Given the description of an element on the screen output the (x, y) to click on. 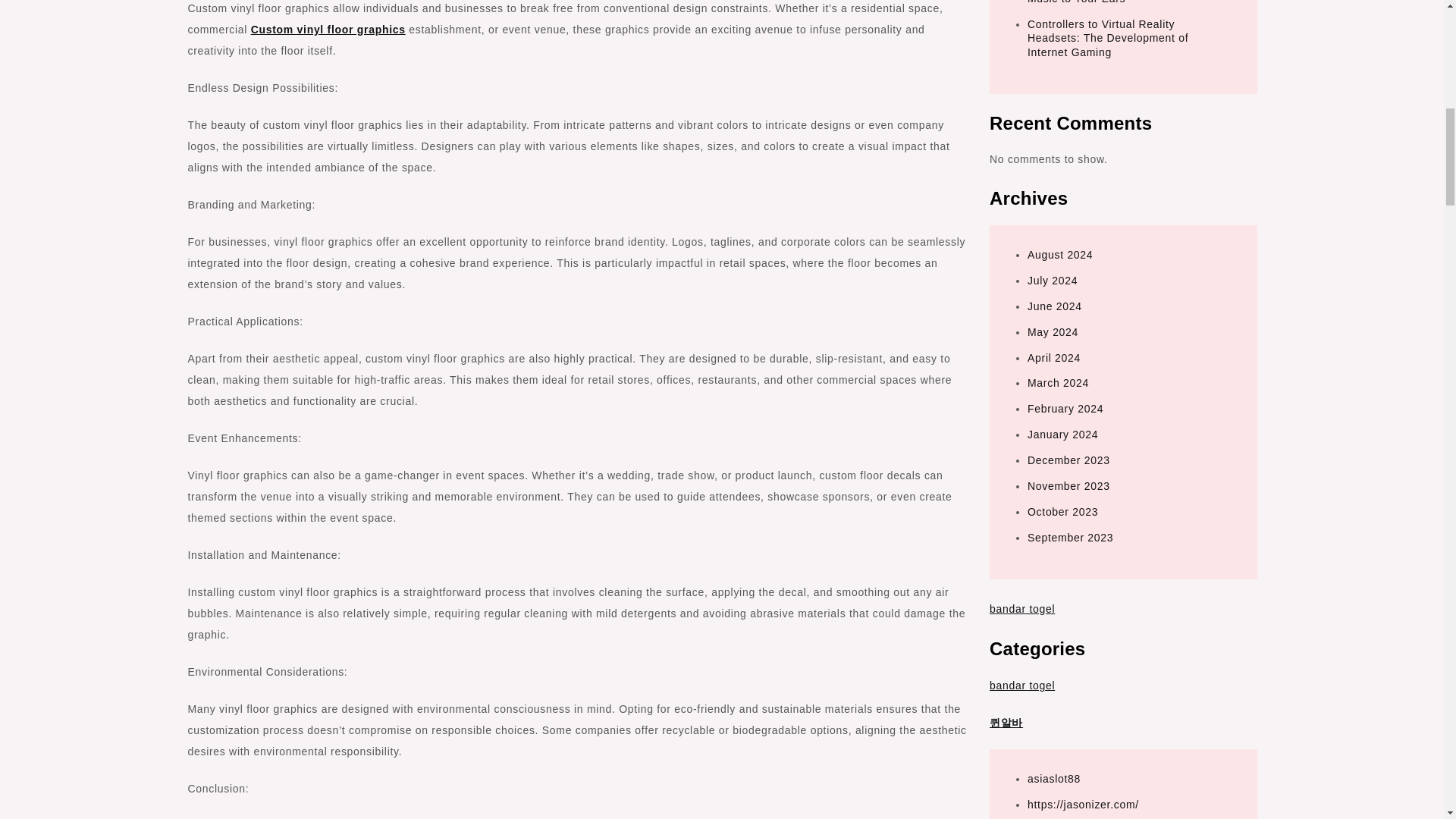
Custom vinyl floor graphics (328, 29)
December 2023 (1068, 460)
September 2023 (1070, 537)
February 2024 (1065, 408)
May 2024 (1052, 331)
March 2024 (1058, 382)
bandar togel (1022, 608)
asiaslot88 (1053, 778)
August 2024 (1060, 254)
Top Game Soundtracks That Are Music to Your Ears (1111, 2)
November 2023 (1068, 485)
April 2024 (1053, 357)
October 2023 (1062, 511)
June 2024 (1054, 306)
